Given the description of an element on the screen output the (x, y) to click on. 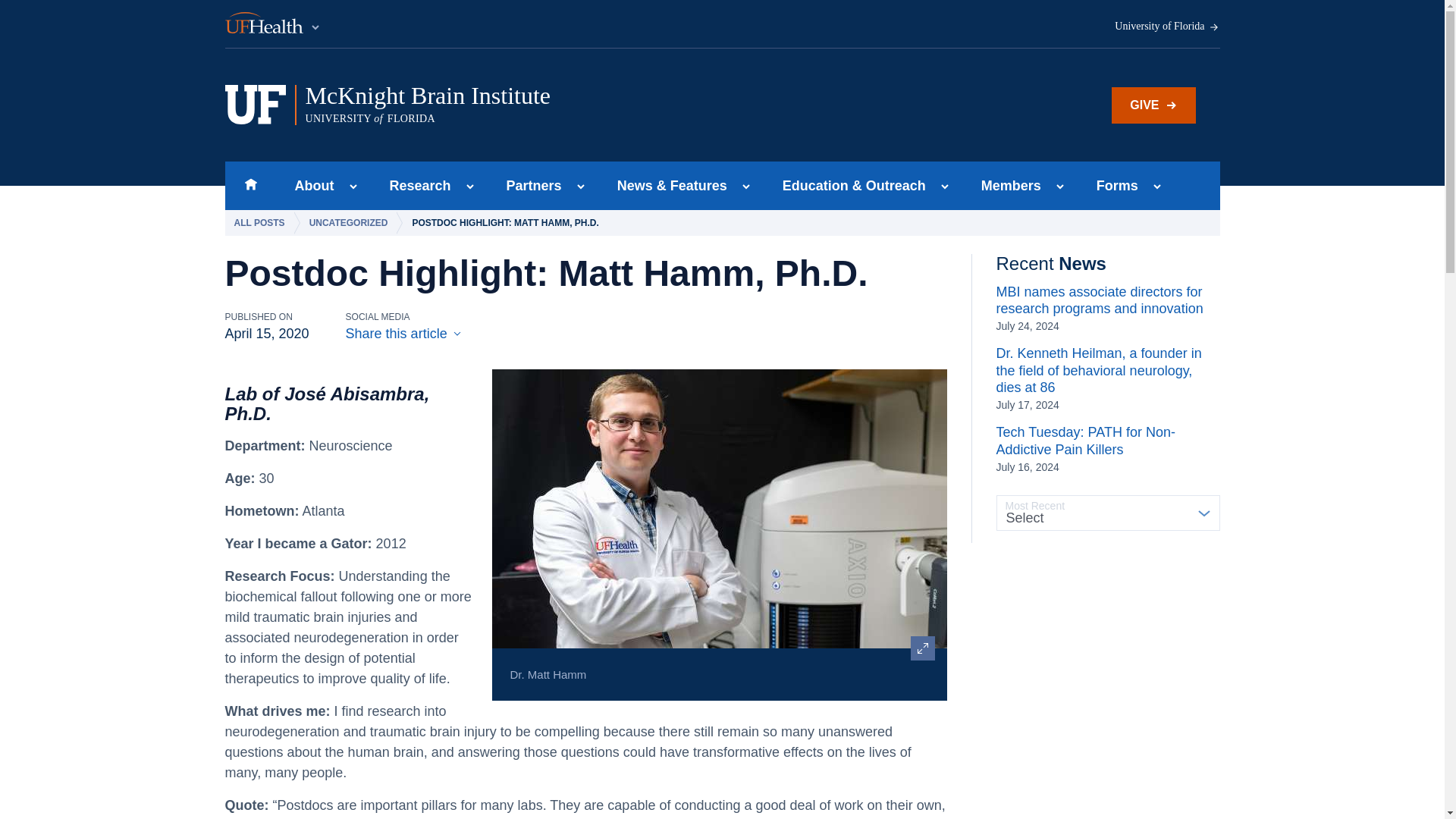
Research (415, 185)
GIVE (1153, 104)
Show submenu for Partners (580, 187)
Home (250, 185)
Partners (515, 105)
Show submenu for About (528, 185)
About (353, 187)
Skip to main content (309, 185)
UF Health (1167, 26)
Show submenu for Research (272, 24)
